Given the description of an element on the screen output the (x, y) to click on. 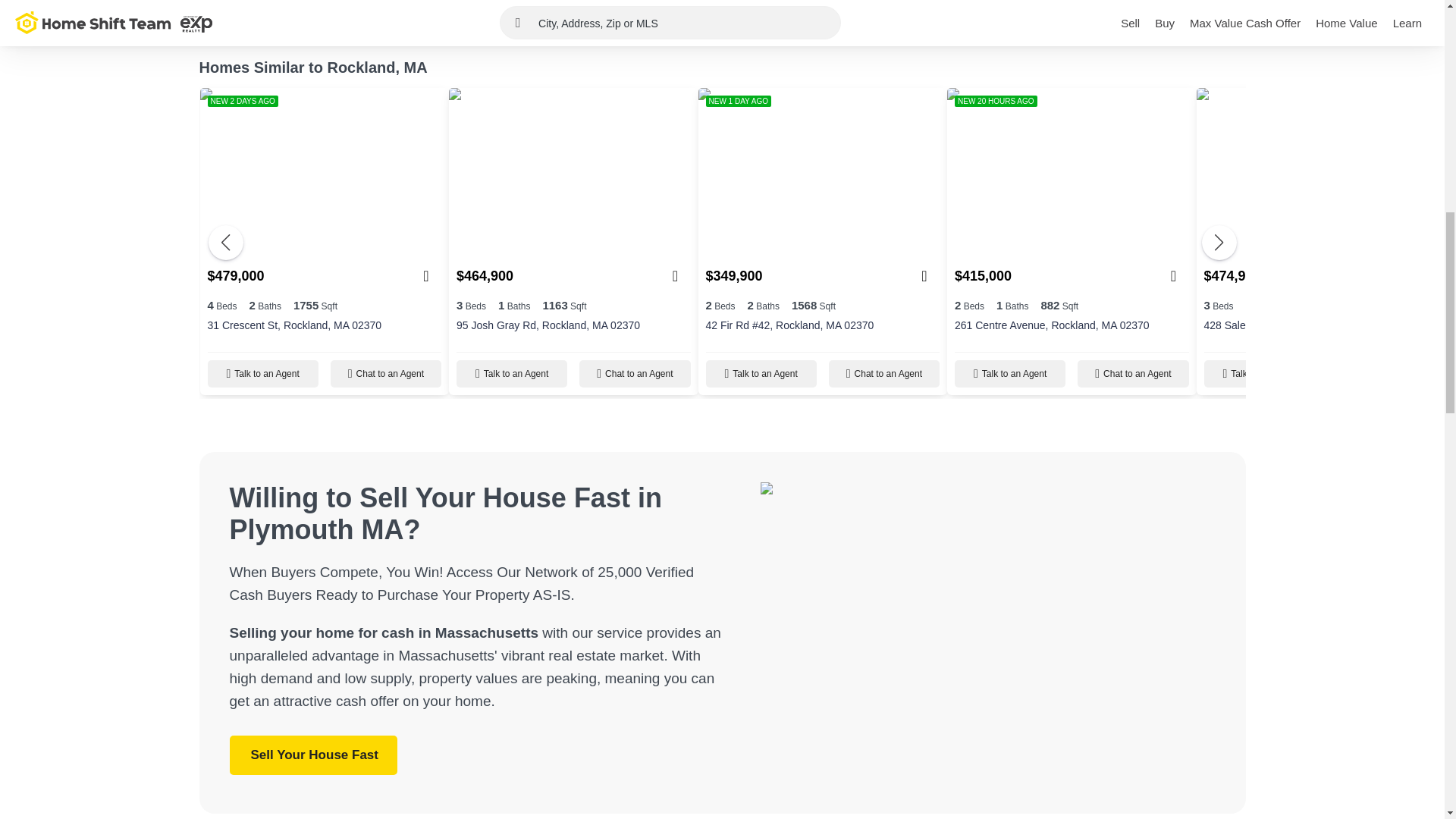
Sell Your House Fast (312, 754)
